Given the description of an element on the screen output the (x, y) to click on. 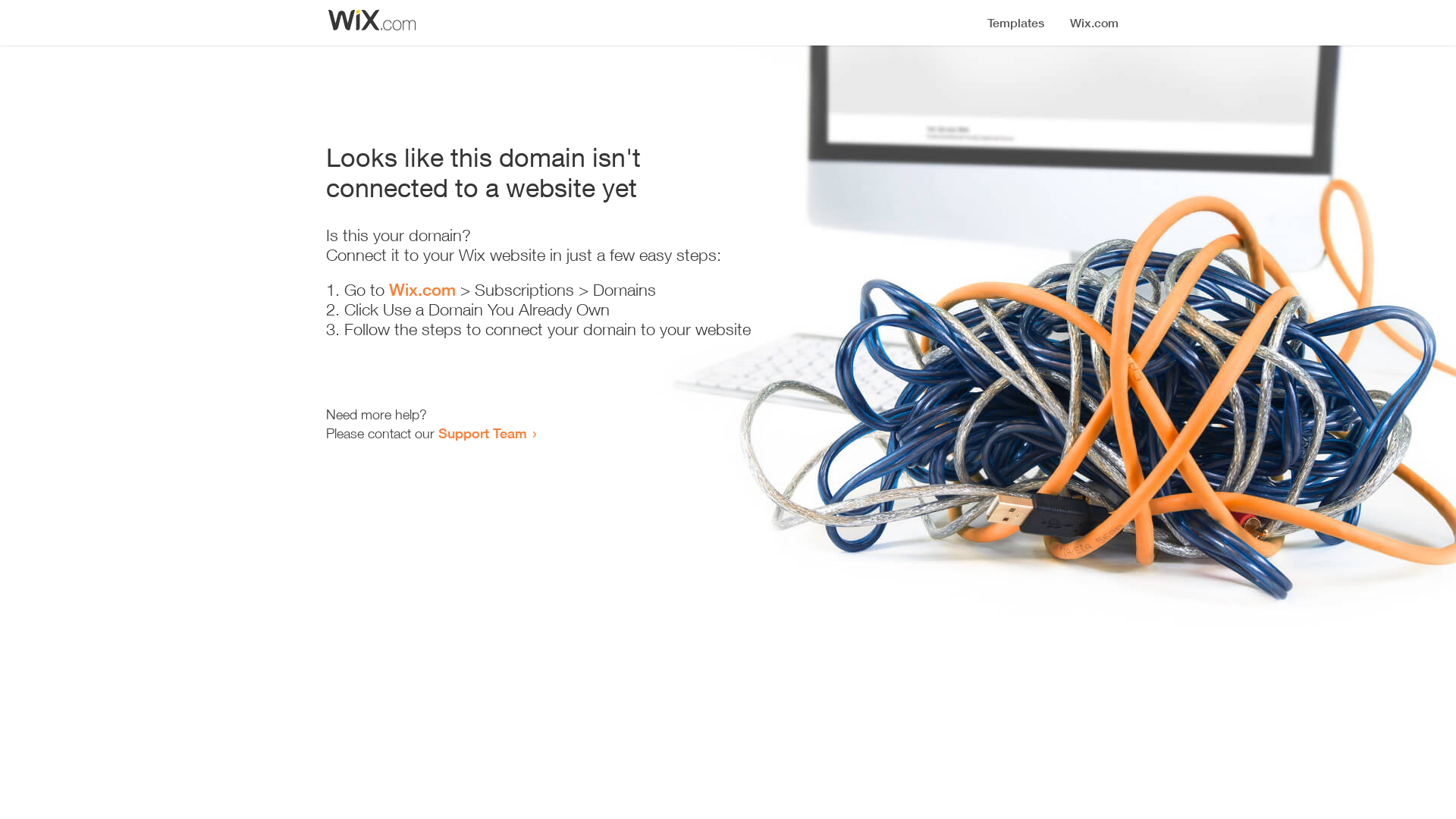
Wix.com Element type: text (422, 289)
Support Team Element type: text (482, 432)
